Given the description of an element on the screen output the (x, y) to click on. 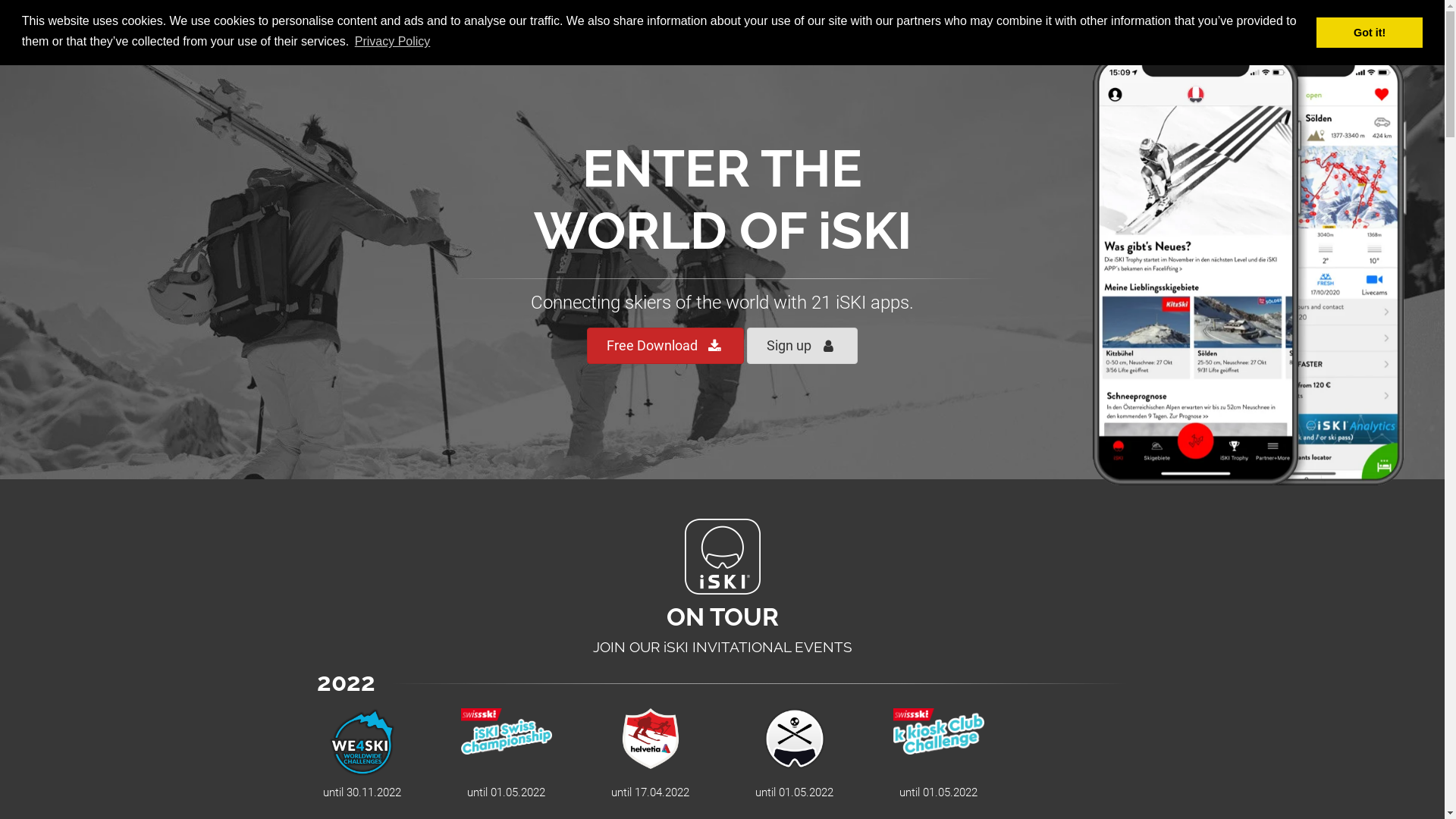
iSKI TROPHY Element type: text (1036, 30)
EN Element type: text (1128, 31)
Free Download Element type: text (664, 345)
iSKI APPS Element type: text (882, 30)
RESORTS Element type: text (803, 30)
Got it! Element type: text (1369, 32)
Sign up Element type: text (801, 345)
Privacy Policy Element type: text (392, 41)
HOME Element type: text (733, 30)
MY iSKI Element type: text (955, 30)
